Given the description of an element on the screen output the (x, y) to click on. 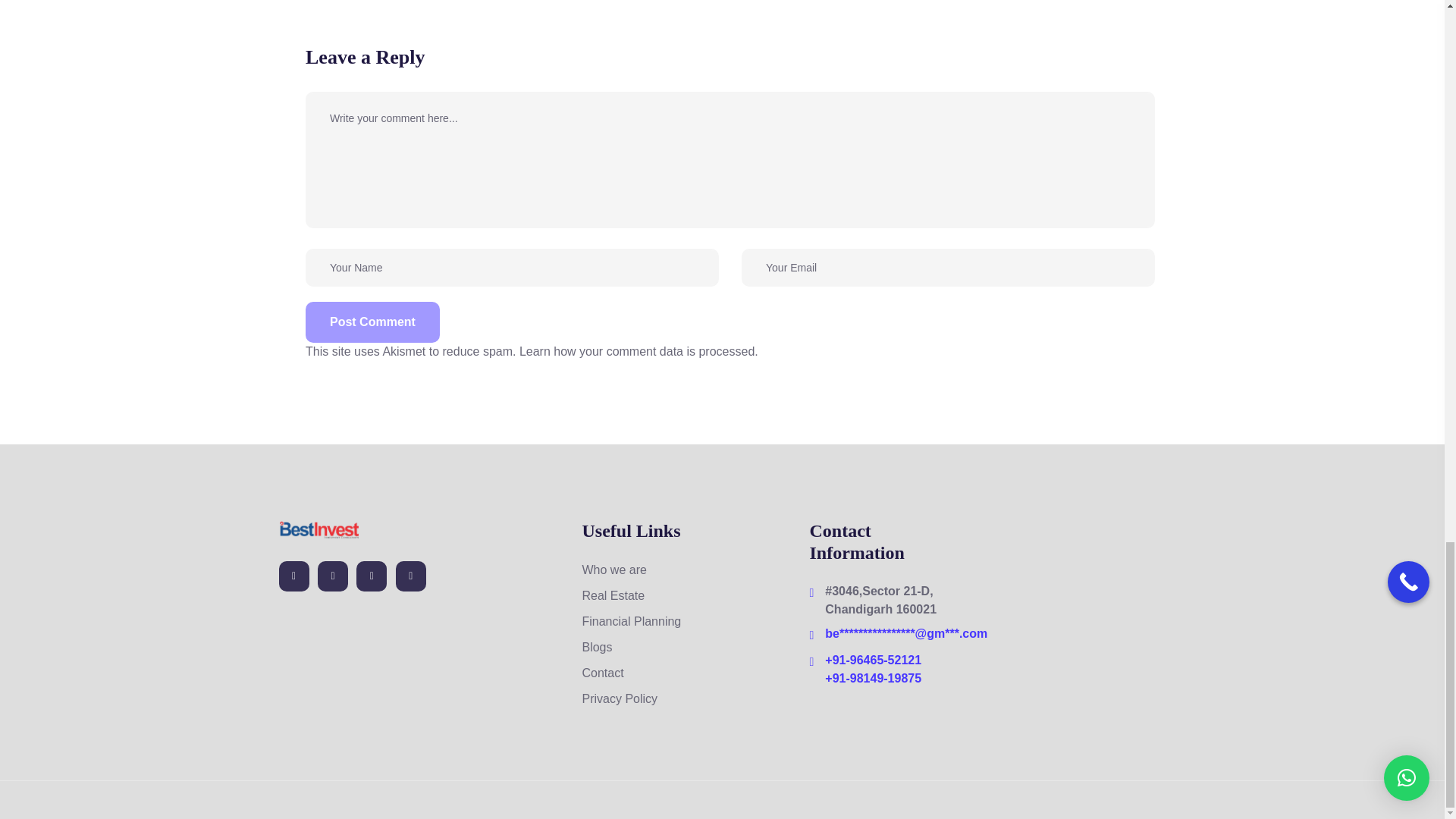
Post Comment (372, 322)
Learn how your comment data is processed (636, 350)
